Given the description of an element on the screen output the (x, y) to click on. 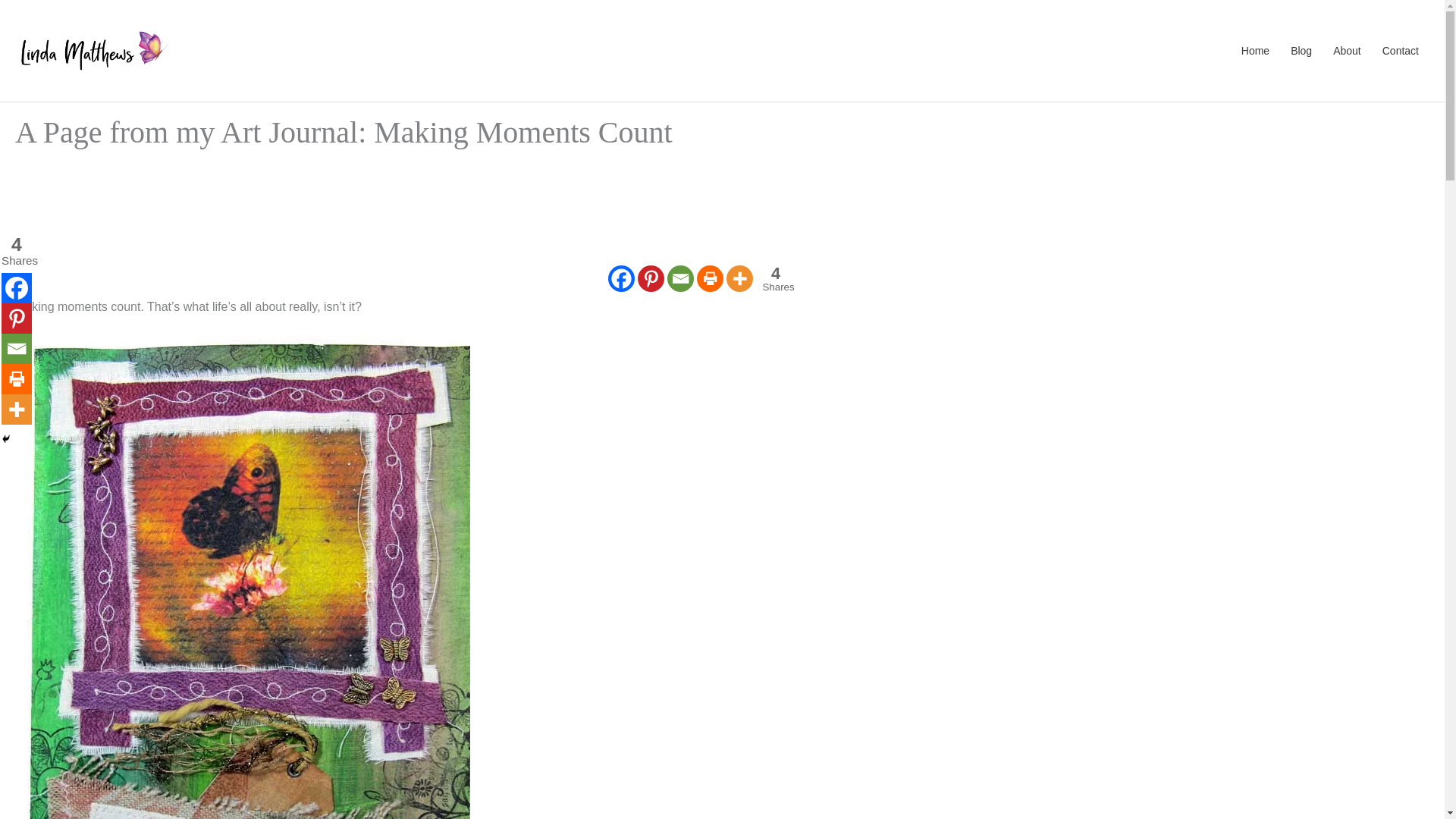
Email (680, 278)
More (739, 278)
Total Shares (16, 250)
Print (708, 278)
Pinterest (772, 278)
Total Shares (16, 318)
More (775, 278)
Advertisement (16, 409)
Email (699, 214)
Pinterest (16, 348)
Print (650, 278)
Facebook (16, 378)
Facebook (621, 278)
